Given the description of an element on the screen output the (x, y) to click on. 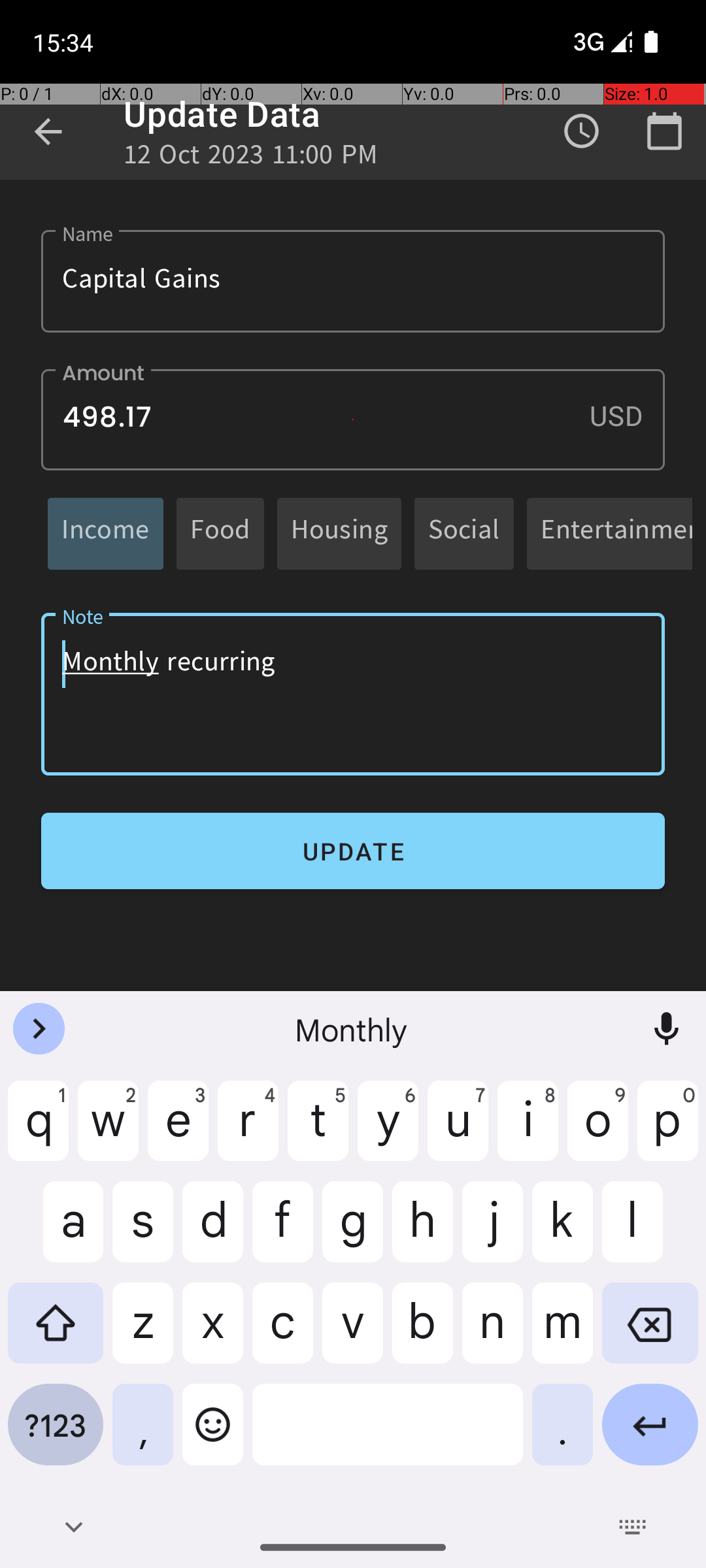
Update Data Element type: android.widget.TextView (221, 113)
12 Oct 2023 11:00 PM Element type: android.widget.TextView (250, 157)
Time Element type: android.widget.TextView (580, 131)
Calendar Element type: android.widget.TextView (664, 131)
Capital Gains Element type: android.widget.EditText (352, 280)
498.17 Element type: android.widget.EditText (352, 419)
Monthly recurring Element type: android.widget.EditText (352, 693)
UPDATE Element type: android.widget.Button (352, 850)
Income Element type: android.widget.TextView (105, 533)
Food Element type: android.widget.TextView (220, 533)
Housing Element type: android.widget.TextView (338, 533)
Social Element type: android.widget.TextView (464, 533)
Entertainment Element type: android.widget.TextView (616, 533)
Open features menu Element type: android.widget.FrameLayout (39, 1028)
Monthly Element type: android.widget.FrameLayout (352, 1028)
Voice input Element type: android.widget.FrameLayout (666, 1028)
q Element type: android.widget.FrameLayout (38, 1130)
w Element type: android.widget.FrameLayout (108, 1130)
e Element type: android.widget.FrameLayout (178, 1130)
r Element type: android.widget.FrameLayout (248, 1130)
t Element type: android.widget.FrameLayout (318, 1130)
y Element type: android.widget.FrameLayout (387, 1130)
u Element type: android.widget.FrameLayout (457, 1130)
i Element type: android.widget.FrameLayout (527, 1130)
o Element type: android.widget.FrameLayout (597, 1130)
p Element type: android.widget.FrameLayout (667, 1130)
a Element type: android.widget.FrameLayout (55, 1231)
s Element type: android.widget.FrameLayout (142, 1231)
d Element type: android.widget.FrameLayout (212, 1231)
f Element type: android.widget.FrameLayout (282, 1231)
g Element type: android.widget.FrameLayout (352, 1231)
h Element type: android.widget.FrameLayout (422, 1231)
j Element type: android.widget.FrameLayout (492, 1231)
k Element type: android.widget.FrameLayout (562, 1231)
l Element type: android.widget.FrameLayout (649, 1231)
z Element type: android.widget.FrameLayout (142, 1332)
x Element type: android.widget.FrameLayout (212, 1332)
c Element type: android.widget.FrameLayout (282, 1332)
v Element type: android.widget.FrameLayout (352, 1332)
b Element type: android.widget.FrameLayout (422, 1332)
n Element type: android.widget.FrameLayout (492, 1332)
m Element type: android.widget.FrameLayout (562, 1332)
Emoji button Element type: android.widget.FrameLayout (212, 1434)
Enter Element type: android.widget.FrameLayout (649, 1434)
